Given the description of an element on the screen output the (x, y) to click on. 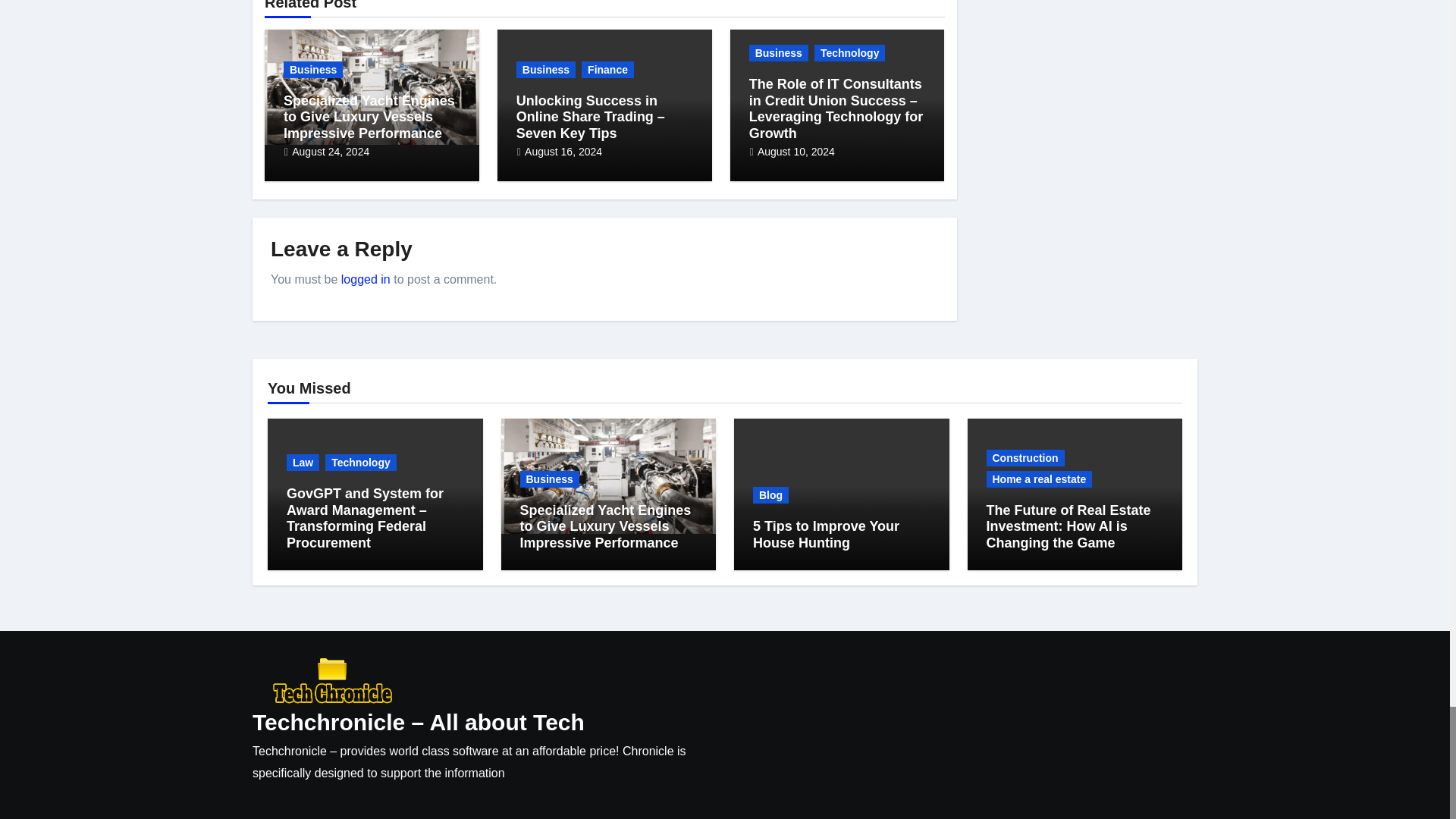
August 24, 2024 (330, 151)
Business (312, 69)
